Given the description of an element on the screen output the (x, y) to click on. 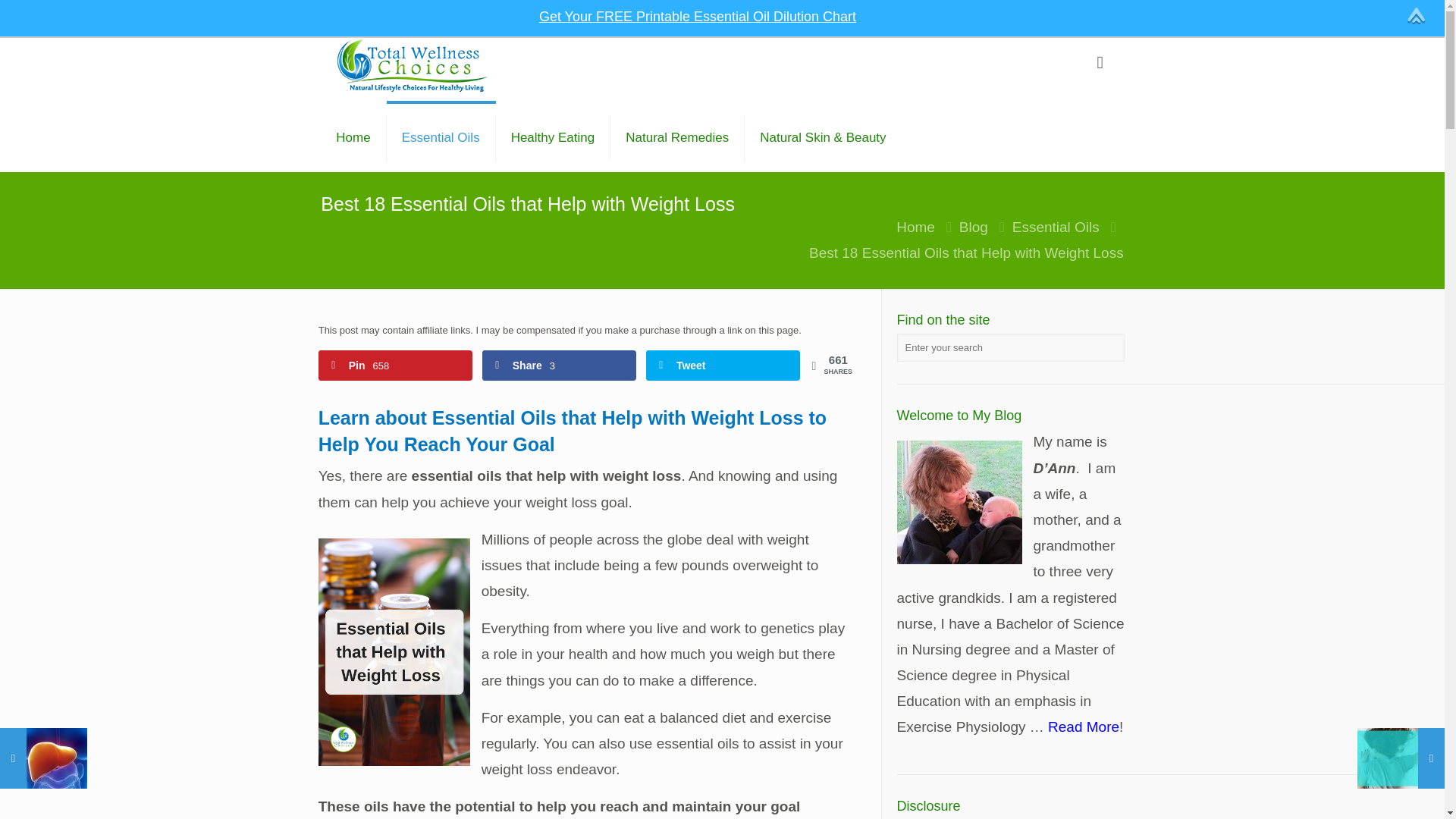
Home (352, 137)
Essential Oils (1055, 227)
Total Wellness Choices (411, 65)
Essential Oils (441, 137)
Tweet (722, 365)
Natural Remedies (677, 137)
Share3 (558, 365)
Pin658 (394, 365)
Home (915, 227)
Blog (973, 227)
